Given the description of an element on the screen output the (x, y) to click on. 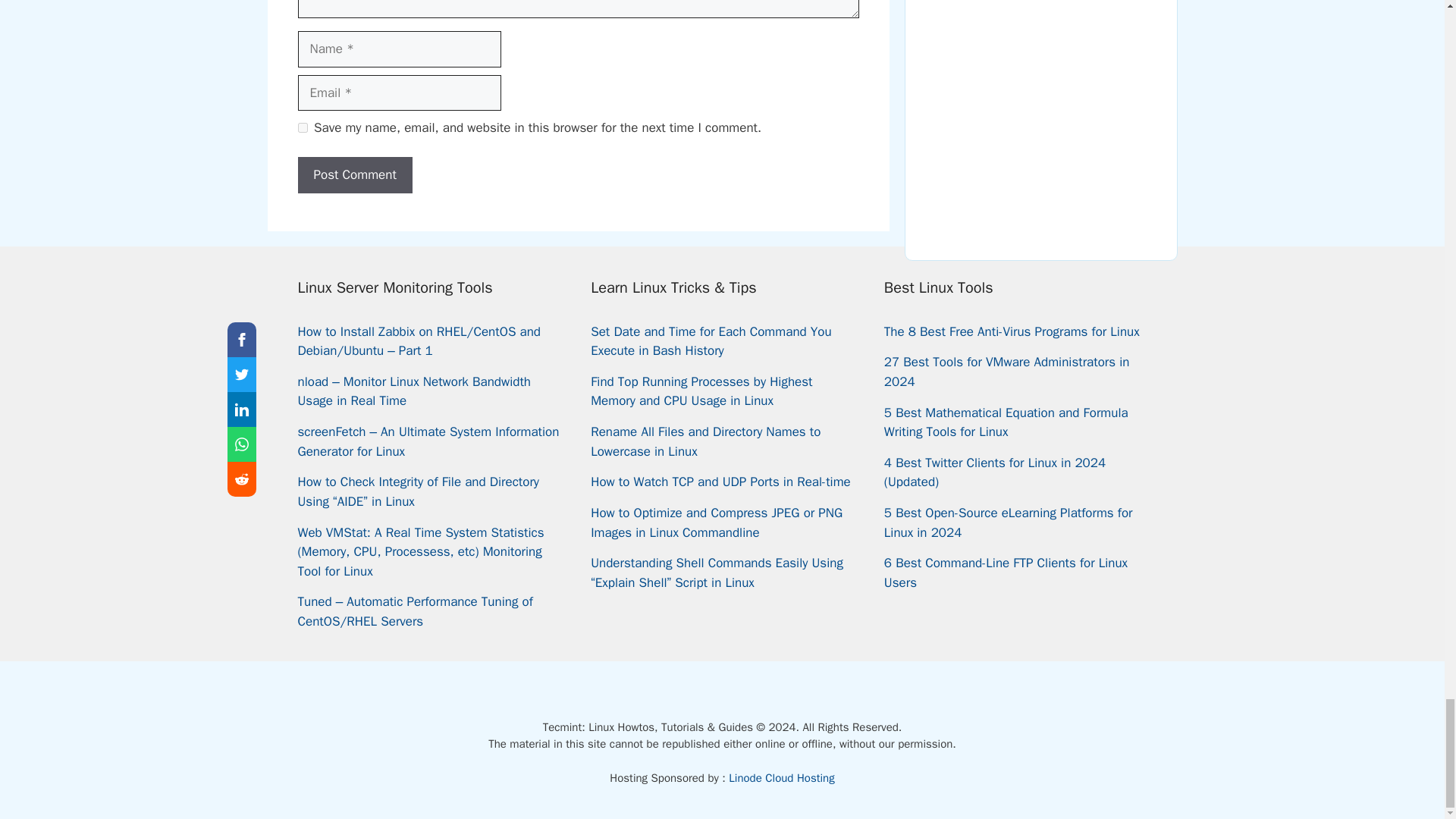
Post Comment (354, 175)
yes (302, 127)
